Given the description of an element on the screen output the (x, y) to click on. 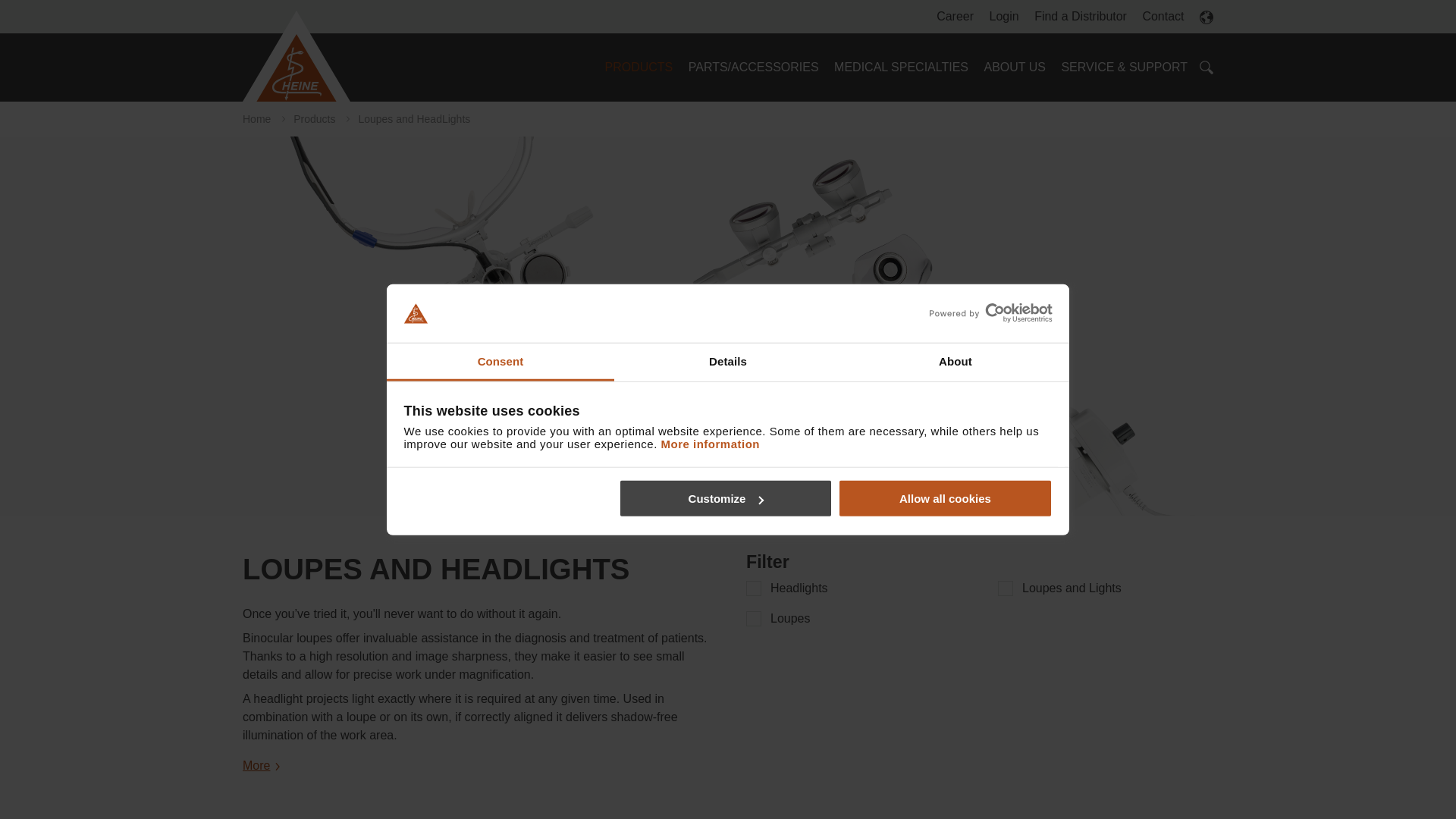
Home (299, 55)
Home (296, 55)
